Given the description of an element on the screen output the (x, y) to click on. 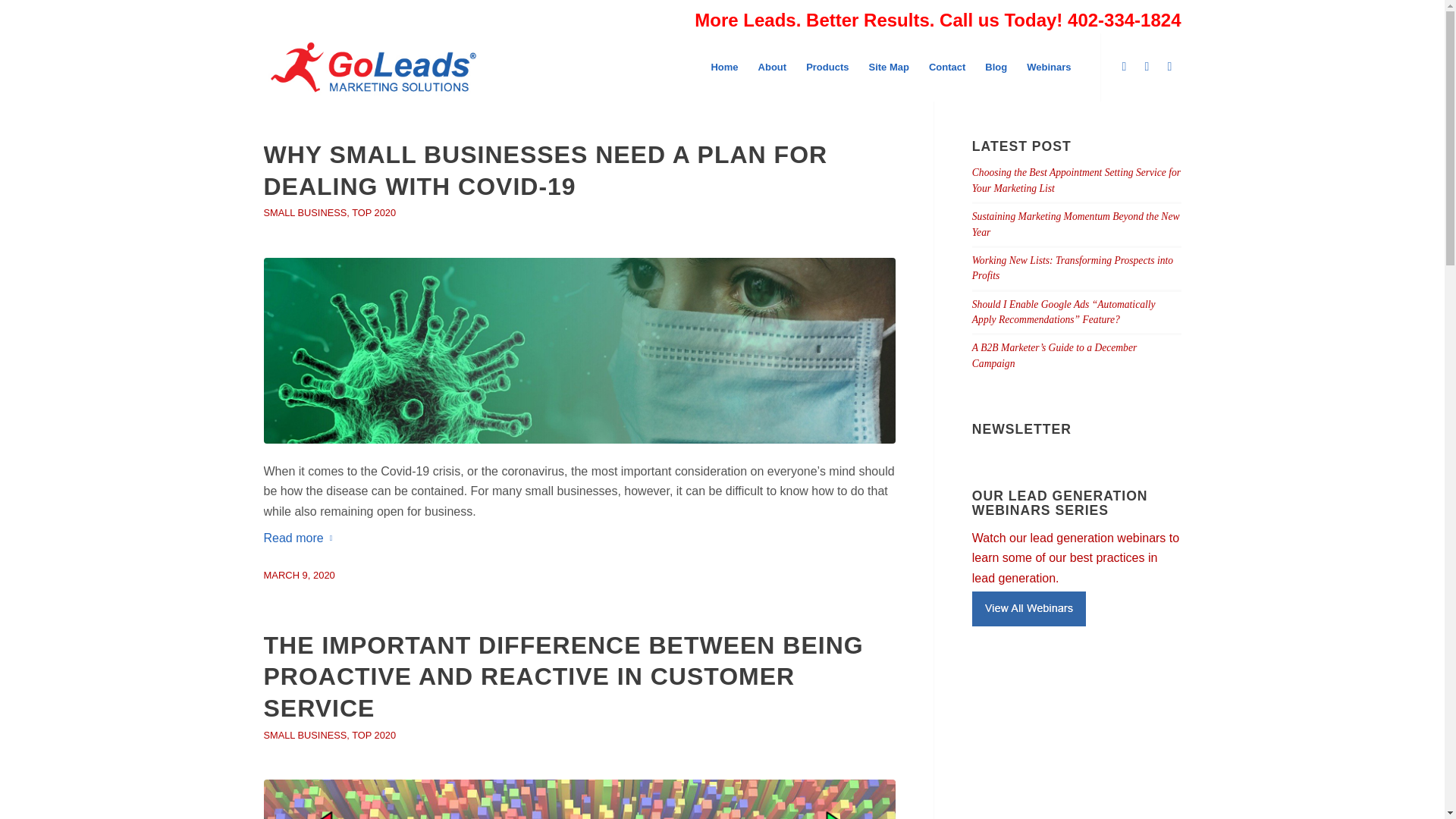
GOLEads-LOGO-400px-JPEG (373, 67)
Twitter (1124, 66)
Mail (1169, 66)
coronavirus (579, 350)
Read more (301, 538)
SMALL BUSINESS (305, 735)
Products (827, 67)
proactive (579, 799)
Facebook (1146, 66)
TOP 2020 (374, 212)
TOP 2020 (374, 735)
402-334-1824 (1121, 15)
SMALL BUSINESS (305, 212)
